Given the description of an element on the screen output the (x, y) to click on. 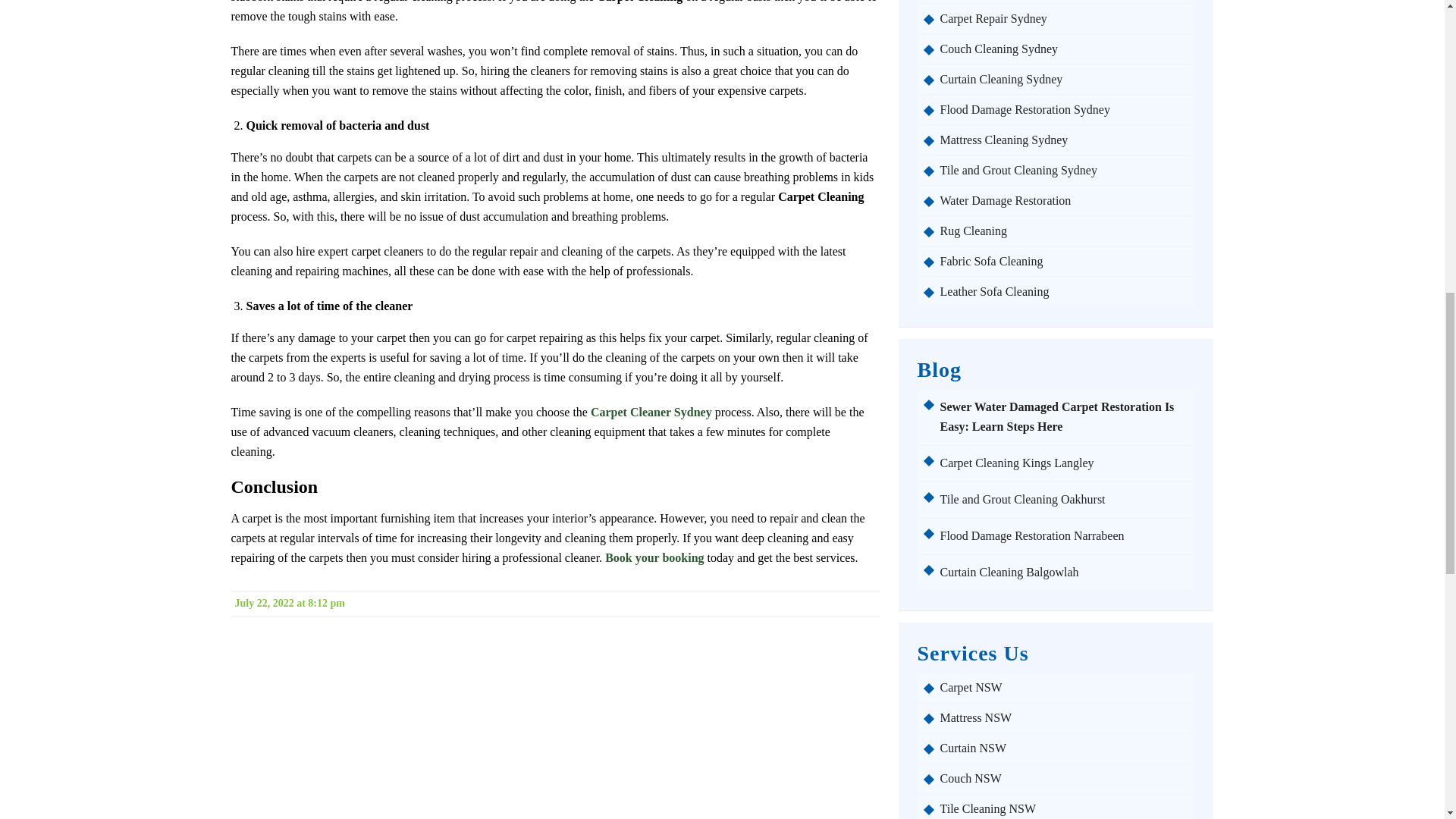
Curtain Cleaning Sydney (1064, 79)
Couch Cleaning Sydney (1064, 49)
Book your booking (654, 557)
Carpet Repair Sydney (1064, 18)
Flood Damage Restoration Sydney (1064, 110)
Carpet Cleaner Sydney (651, 411)
